Given the description of an element on the screen output the (x, y) to click on. 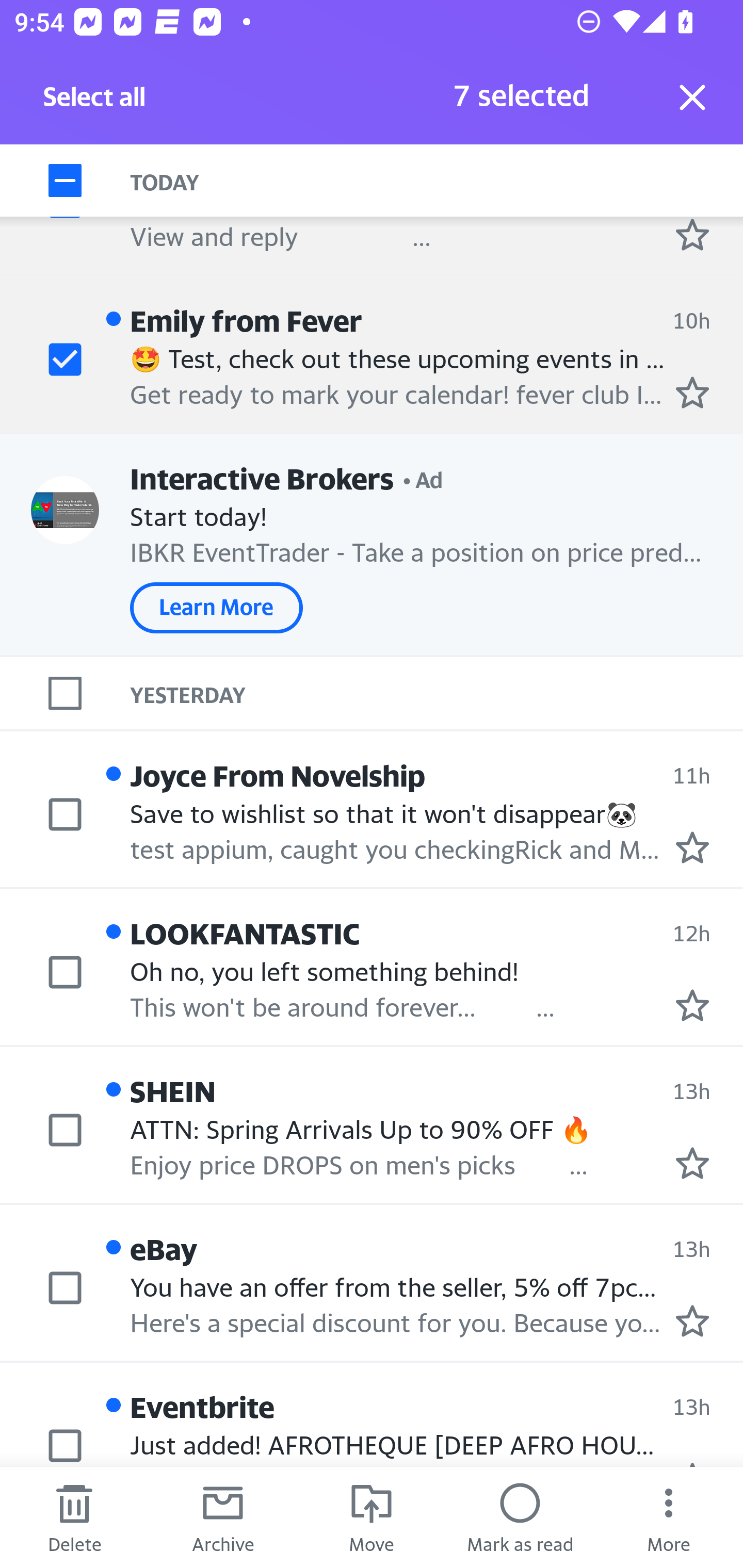
Exit selection mode (692, 97)
Select all (94, 101)
Mark as starred. (692, 234)
Mark as starred. (692, 392)
• Ad (422, 477)
YESTERDAY (436, 693)
Mark as starred. (692, 847)
Mark as starred. (692, 1005)
Mark as starred. (692, 1162)
Mark as starred. (692, 1321)
Delete (74, 1517)
Archive (222, 1517)
Move (371, 1517)
Mark as read (519, 1517)
More (668, 1517)
